Given the description of an element on the screen output the (x, y) to click on. 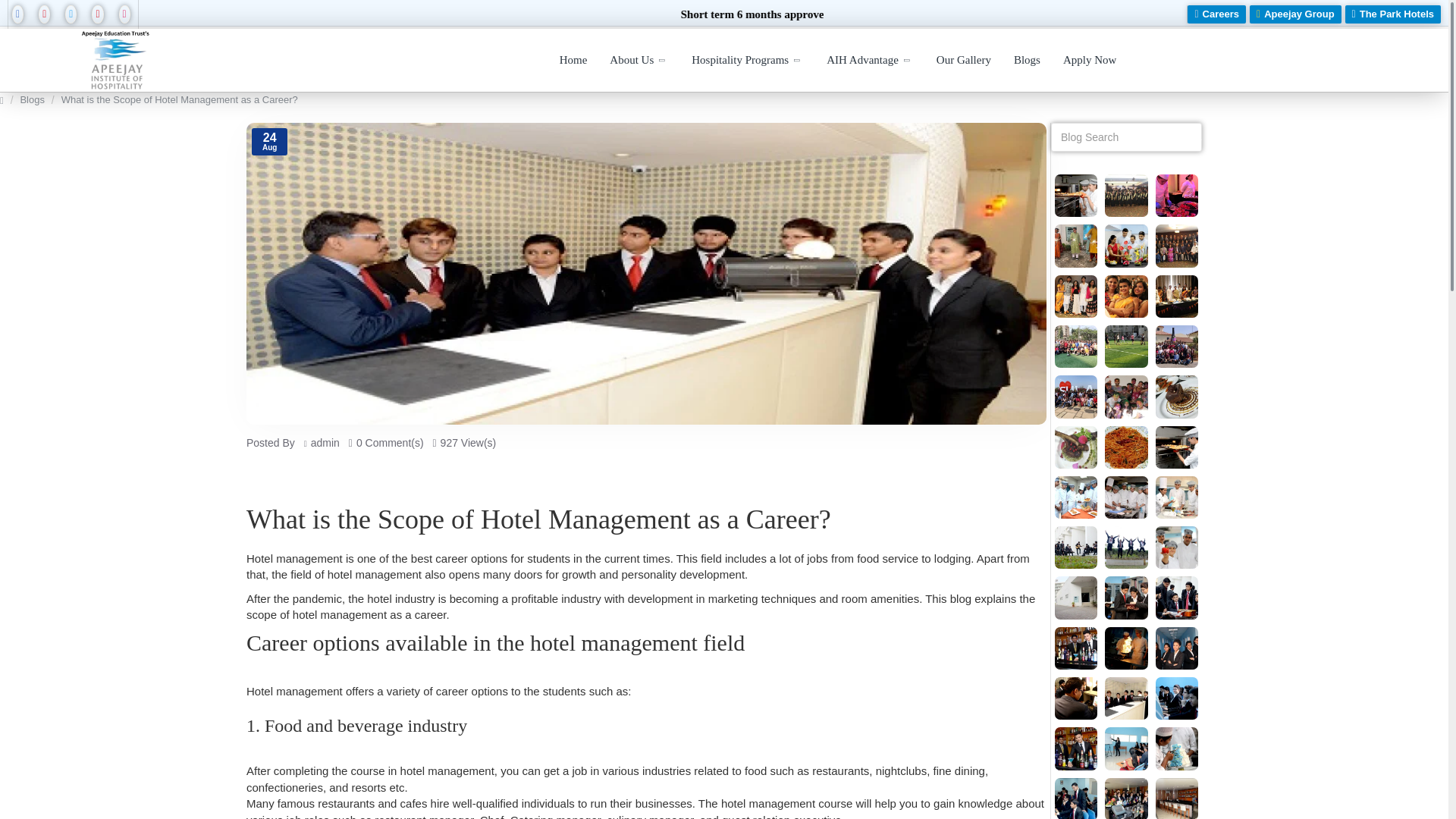
Hospitality Programs (747, 60)
The Park Hotels (1393, 14)
Apeejay Group (1294, 14)
Our Gallery (963, 60)
AIH Advantage (869, 60)
Careers (1217, 14)
About Us (638, 60)
apeejay (116, 60)
